Given the description of an element on the screen output the (x, y) to click on. 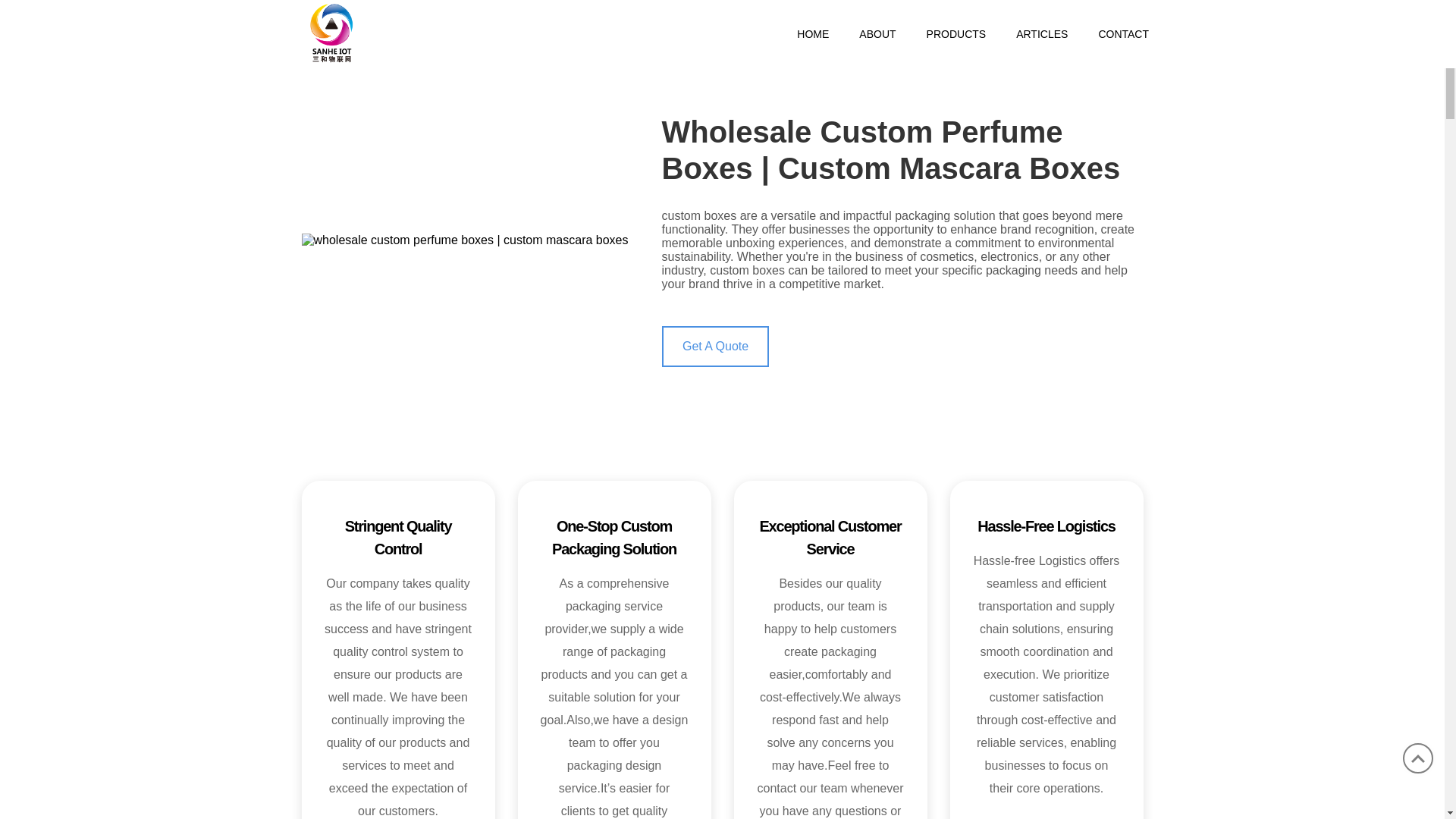
PRODUCTS (956, 33)
HOME (812, 33)
ARTICLES (1042, 33)
Get A Quote (714, 345)
CONTACT (1115, 33)
Back To Home (330, 32)
Get A Quote (714, 345)
ABOUT (877, 33)
